Given the description of an element on the screen output the (x, y) to click on. 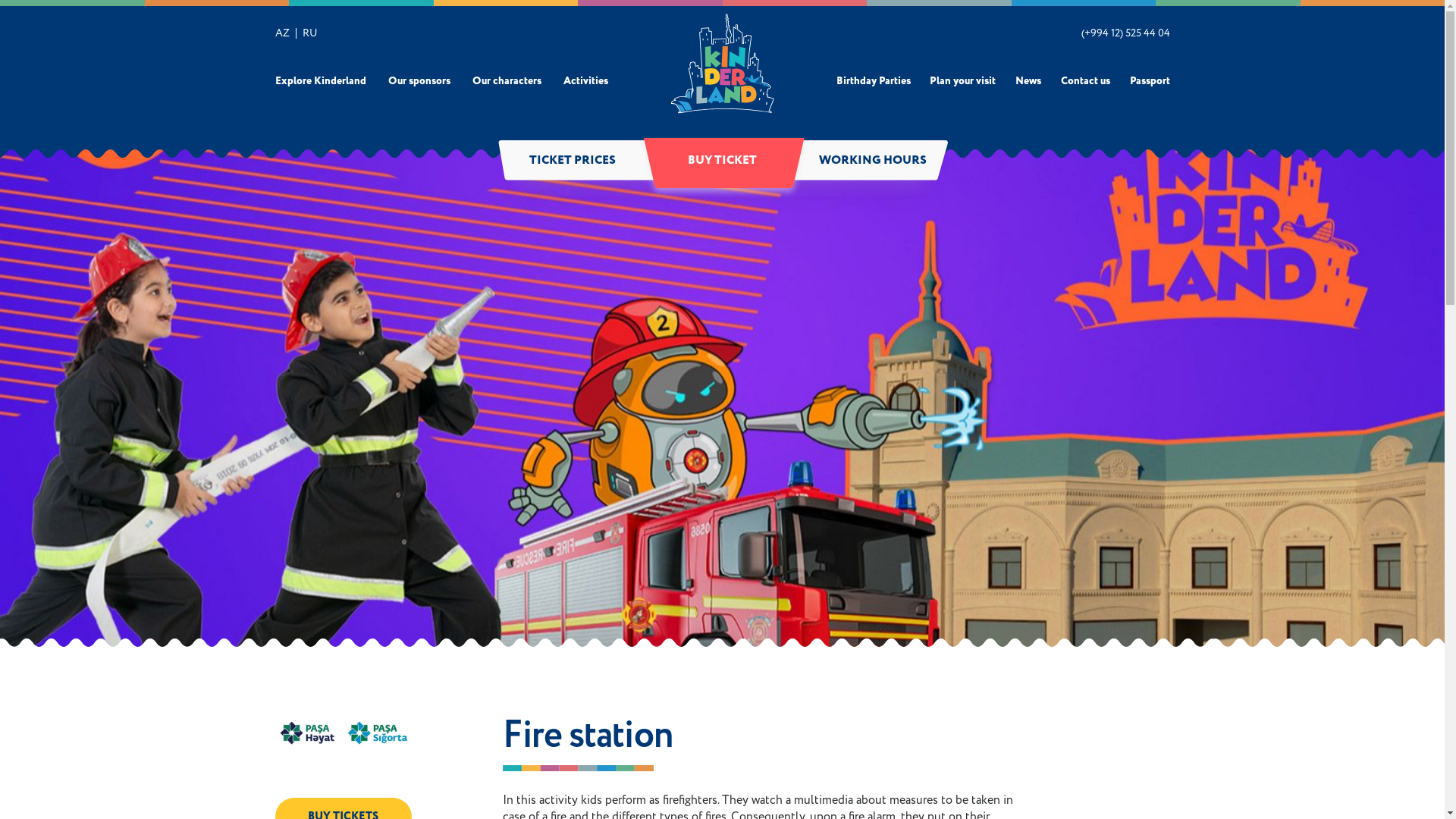
Our characters Element type: text (506, 80)
Passport Element type: text (1149, 80)
AZ Element type: text (281, 33)
WORKING HOURS Element type: text (872, 160)
RU Element type: text (308, 33)
Plan your visit Element type: text (962, 80)
Our sponsors Element type: text (419, 80)
TICKET PRICES Element type: text (572, 160)
News Element type: text (1028, 80)
Explore Kinderland Element type: text (319, 80)
BUY TICKET Element type: text (722, 160)
Contact us Element type: text (1085, 80)
Kinderland Element type: text (722, 62)
Activities Element type: text (585, 80)
Birthday Parties Element type: text (872, 80)
(+994 12) 525 44 04 Element type: text (1125, 33)
